Given the description of an element on the screen output the (x, y) to click on. 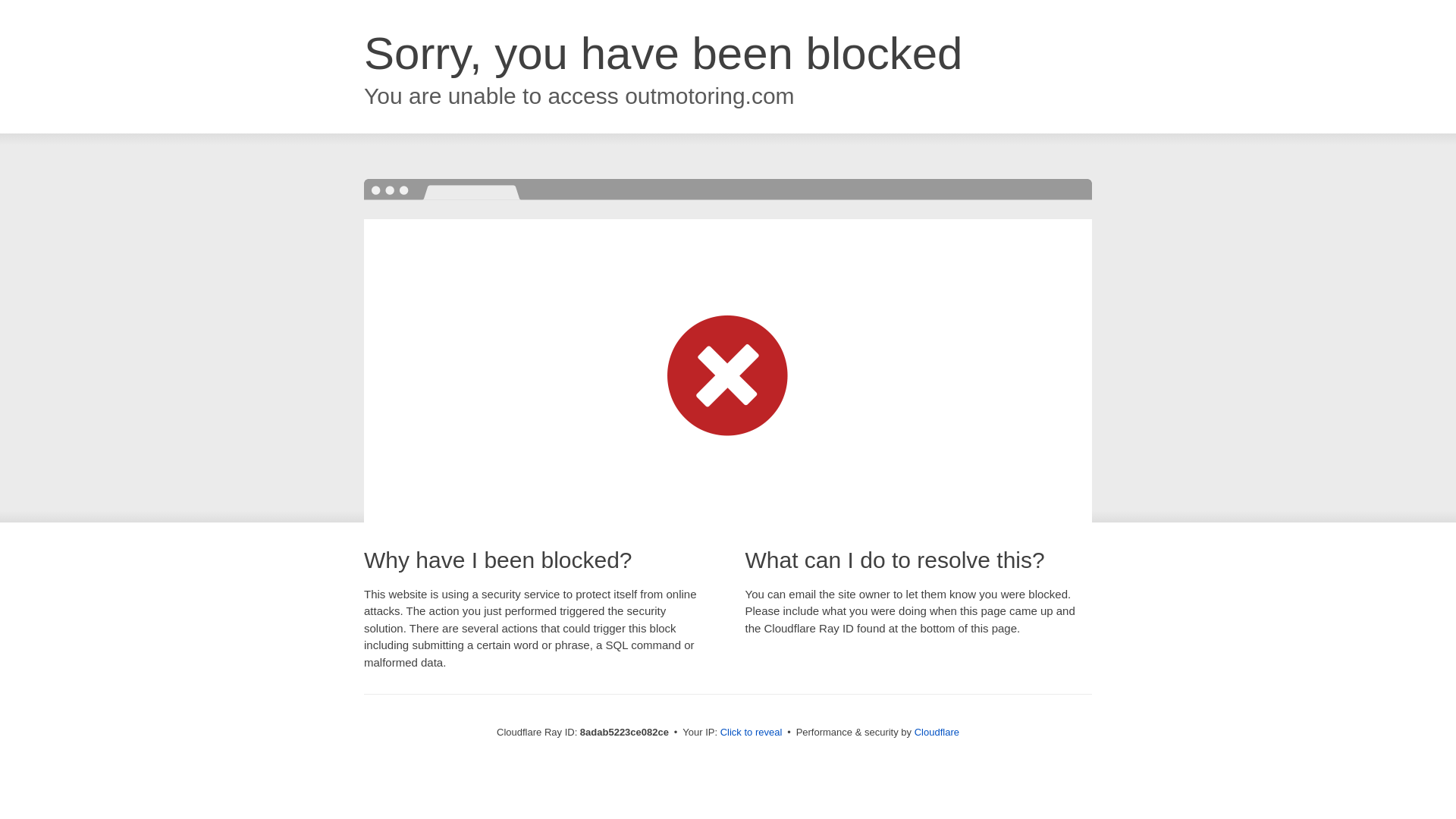
Click to reveal (751, 732)
Cloudflare (936, 731)
